Given the description of an element on the screen output the (x, y) to click on. 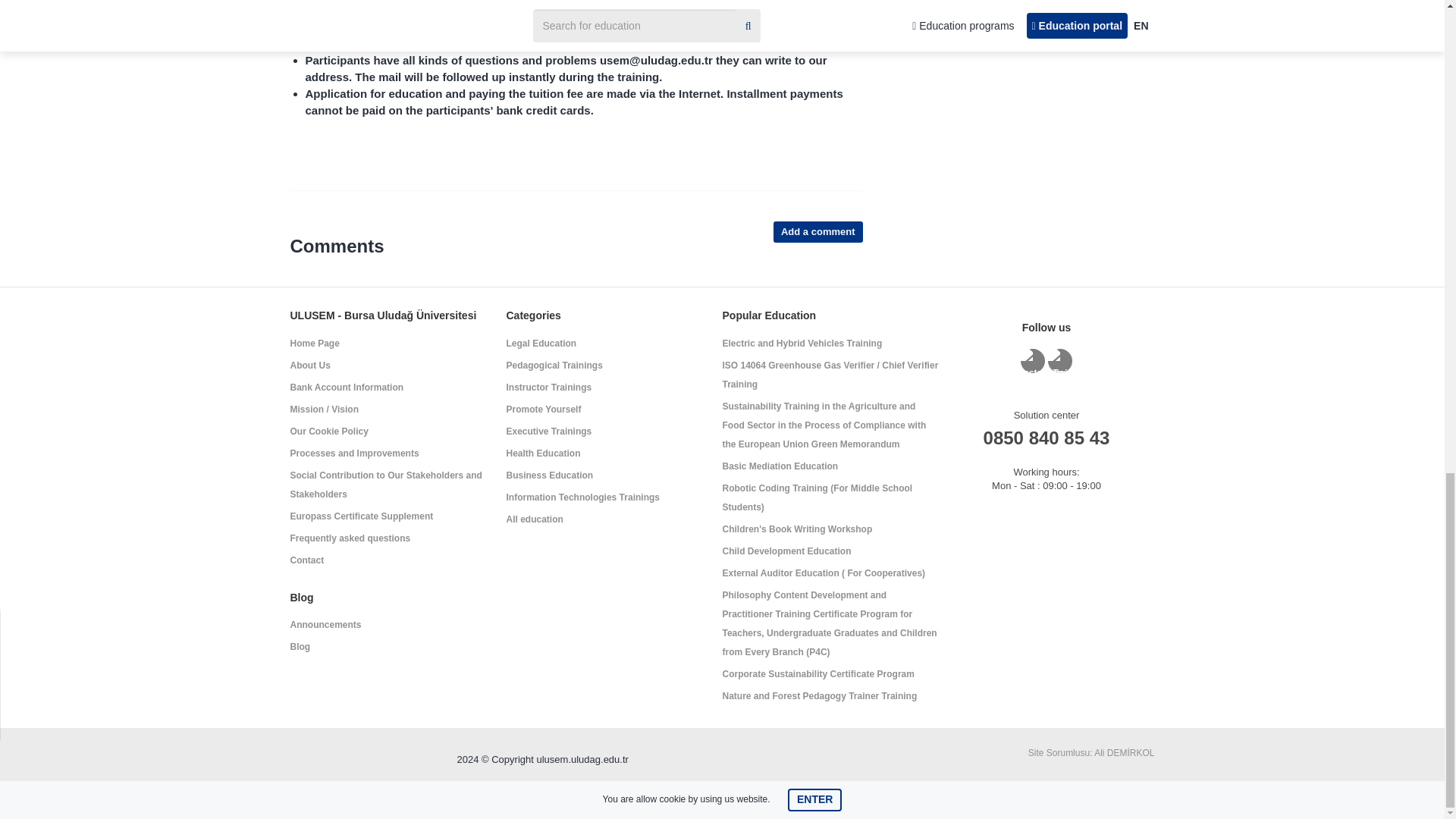
Processes and Improvements (354, 452)
Home Page (314, 343)
About Us (309, 365)
Our Cookie Policy (328, 430)
Bank Account Information (346, 387)
Add a comment (818, 231)
